Given the description of an element on the screen output the (x, y) to click on. 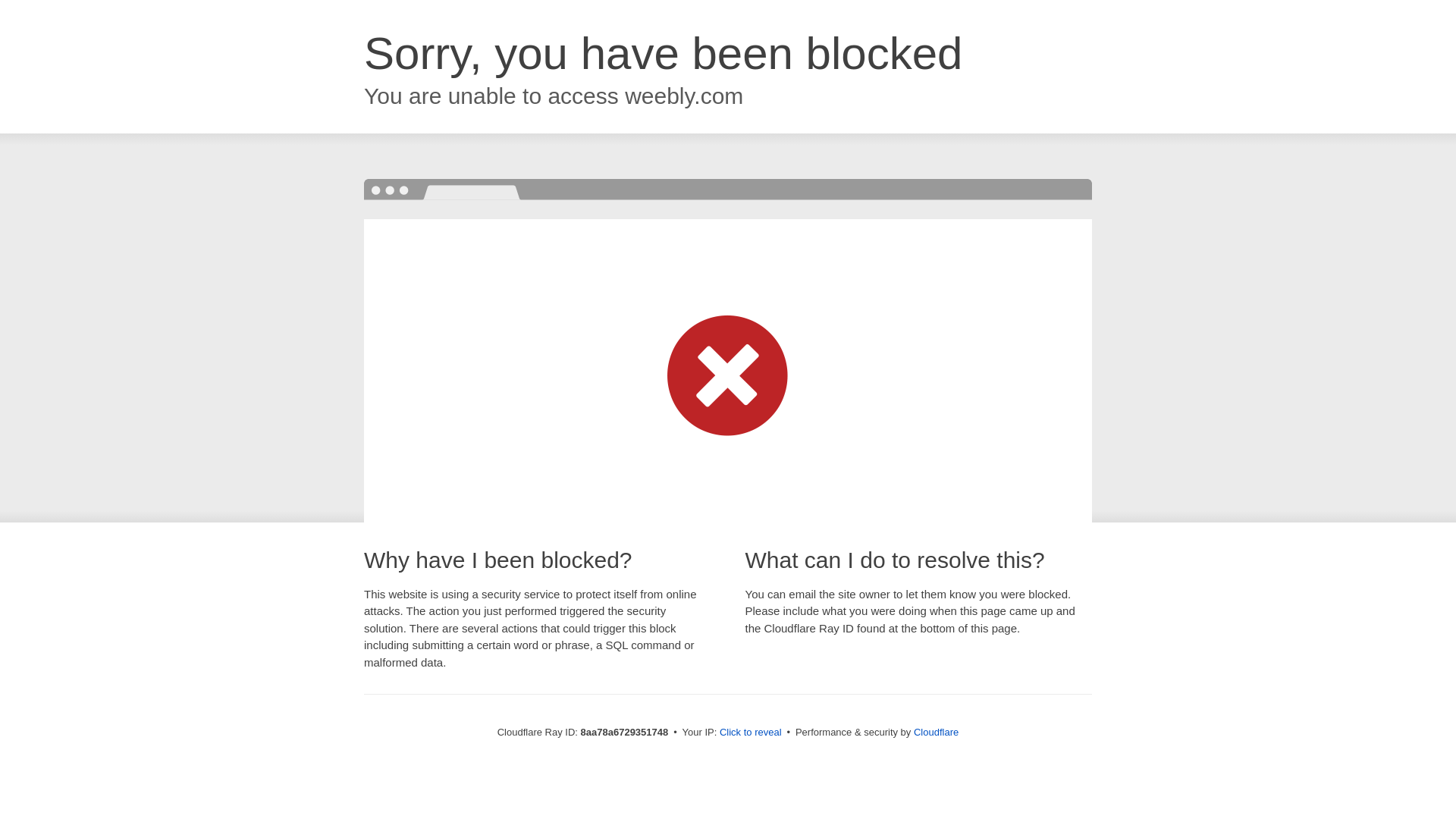
Cloudflare (936, 731)
Click to reveal (750, 732)
